Given the description of an element on the screen output the (x, y) to click on. 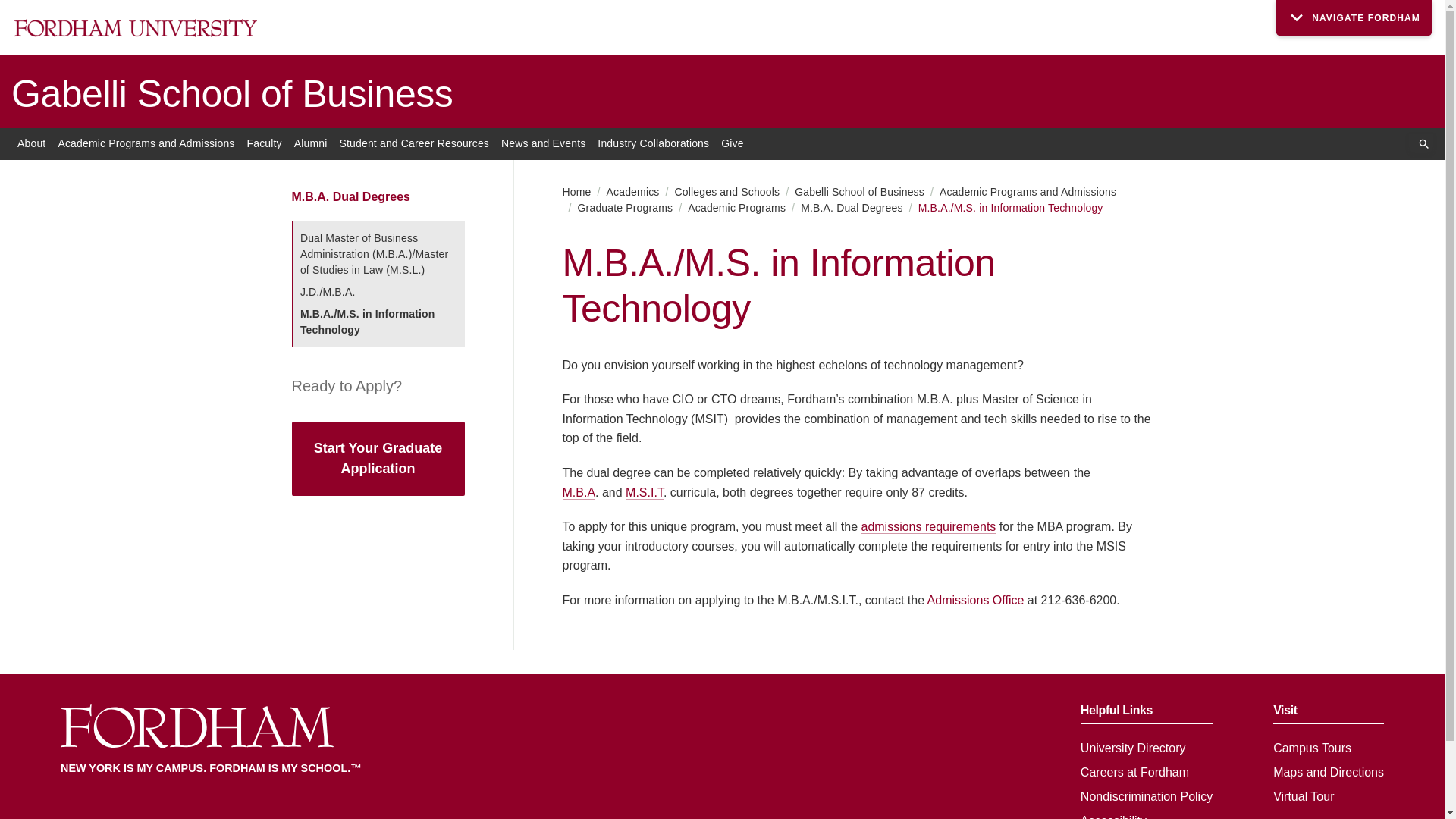
Search icon (1424, 144)
NAVIGATE FORDHAM (1353, 18)
